Given the description of an element on the screen output the (x, y) to click on. 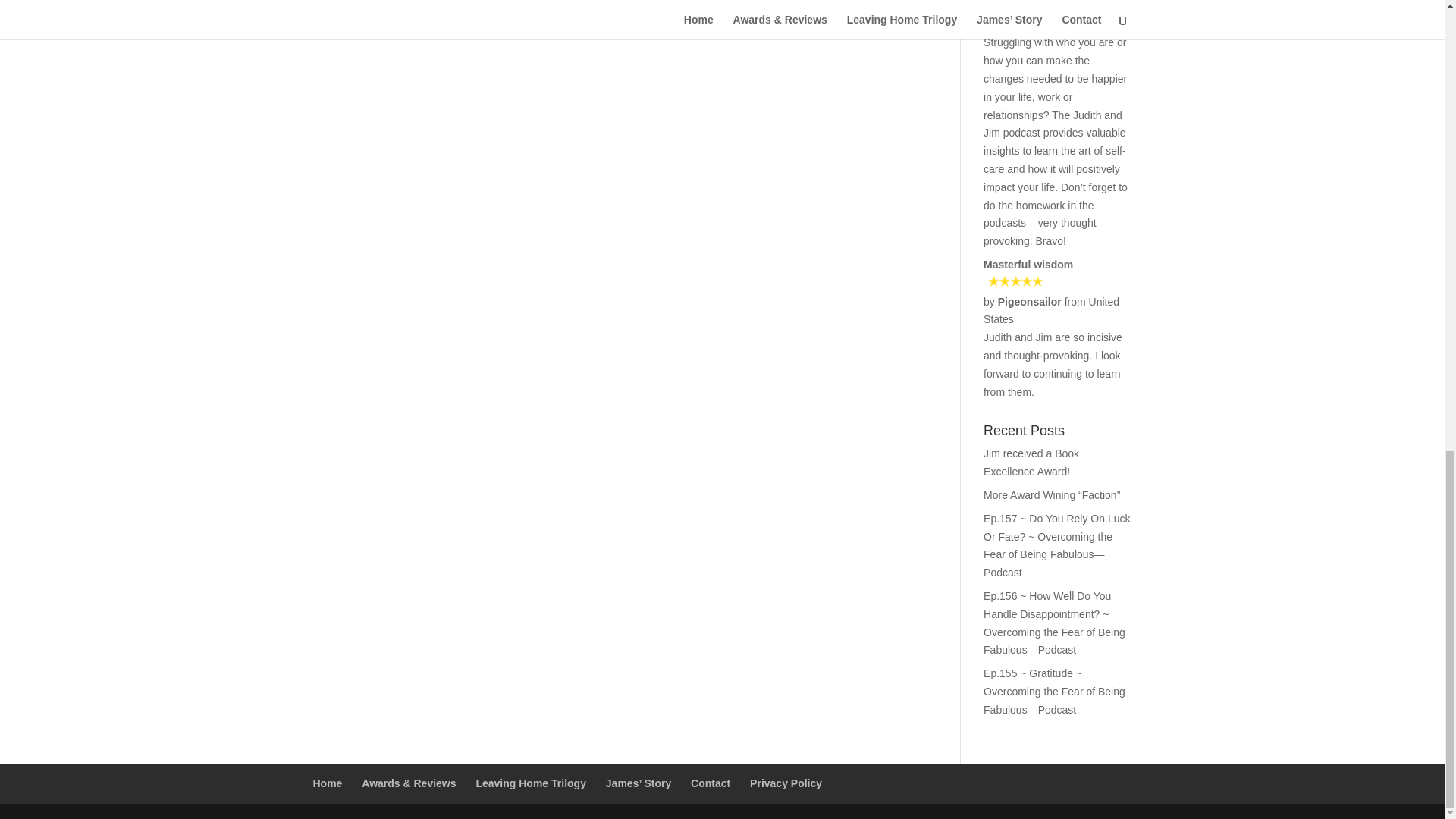
Home (327, 783)
Jim received a Book Excellence Award! (1031, 462)
Leaving Home Trilogy (530, 783)
Privacy Policy (785, 783)
Contact (710, 783)
